Given the description of an element on the screen output the (x, y) to click on. 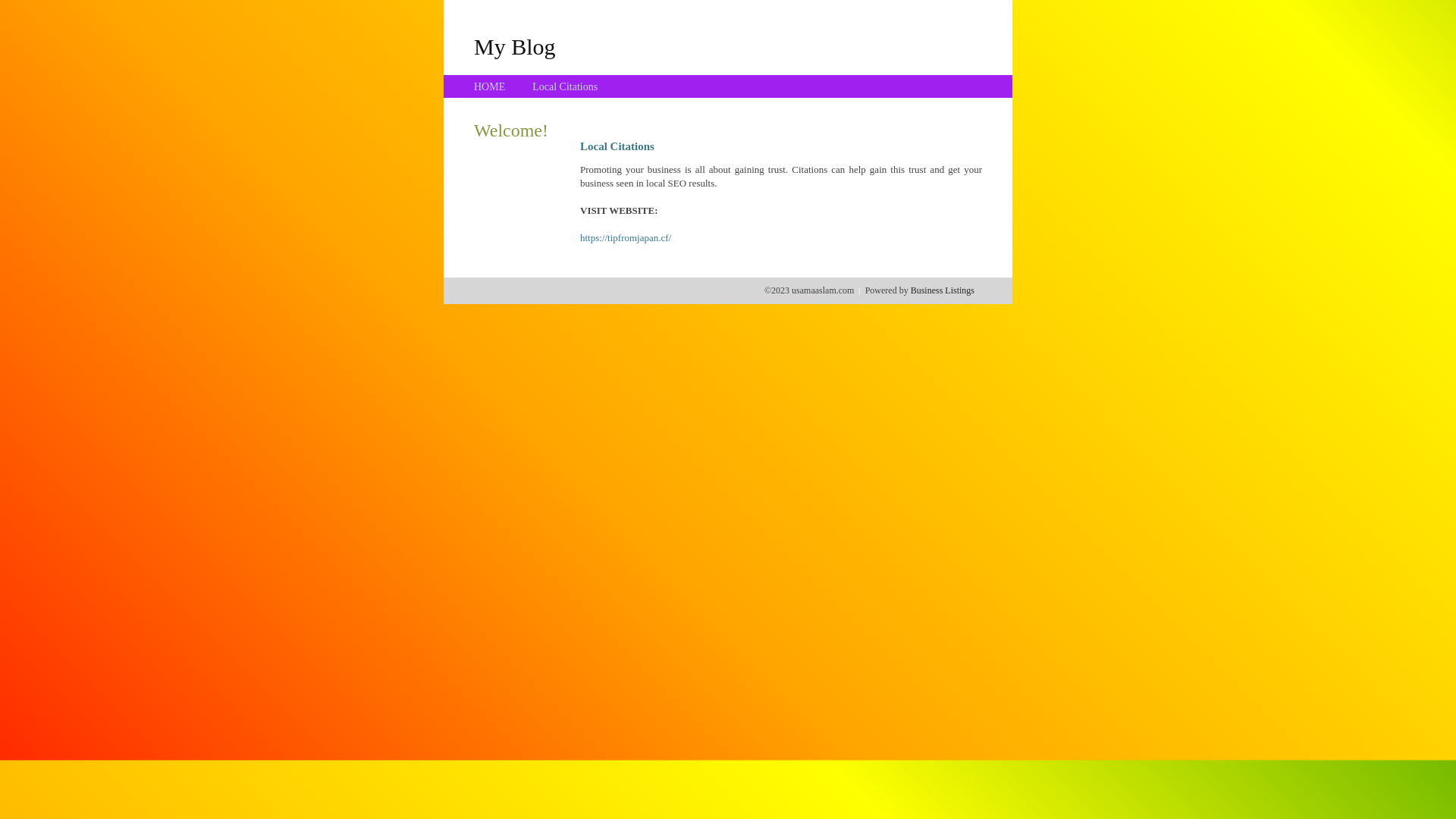
Local Citations Element type: text (564, 86)
HOME Element type: text (489, 86)
My Blog Element type: text (514, 46)
https://tipfromjapan.cf/ Element type: text (625, 237)
Business Listings Element type: text (942, 290)
